Given the description of an element on the screen output the (x, y) to click on. 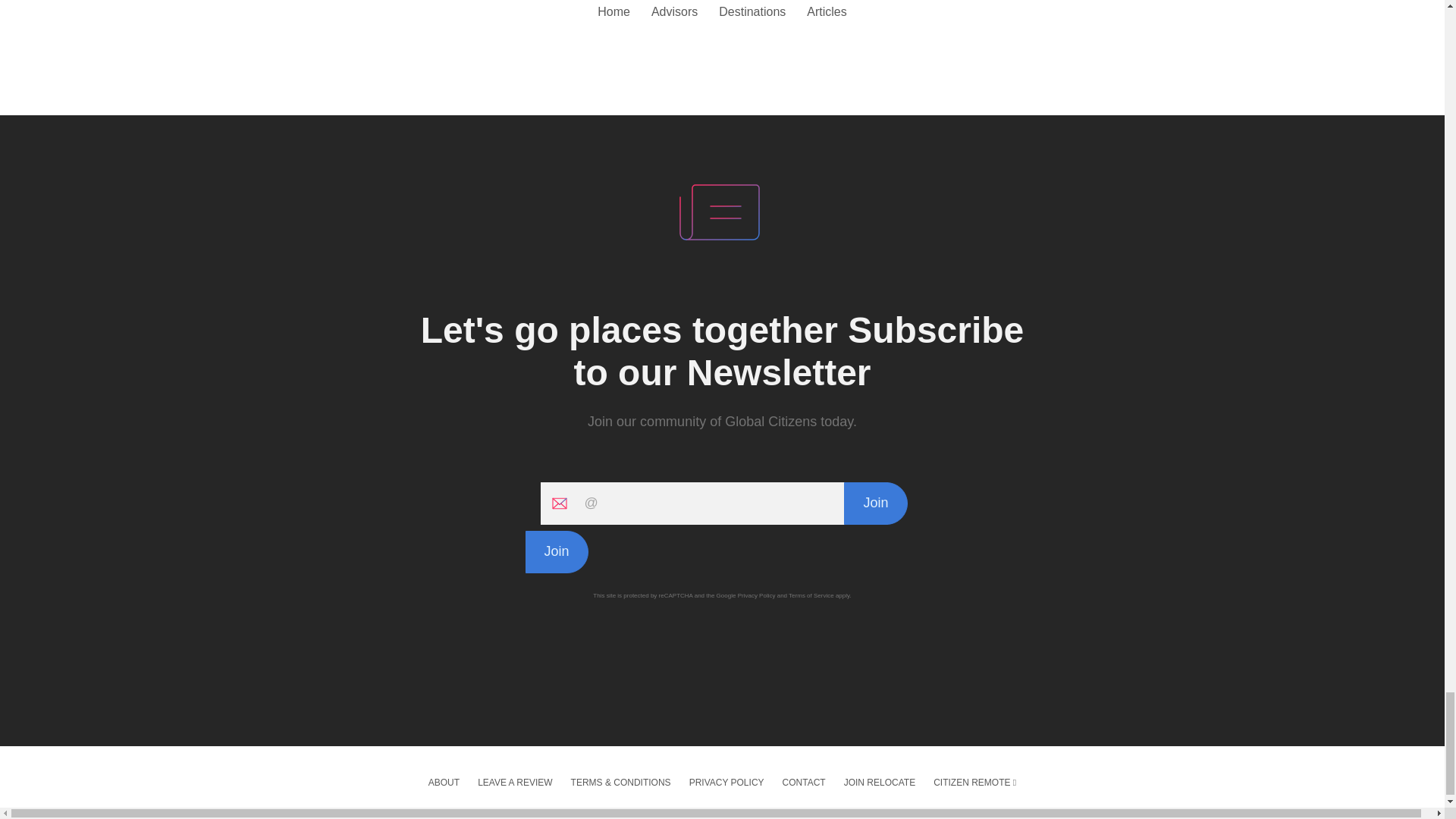
Join (875, 503)
ABOUT (444, 782)
CONTACT (804, 782)
JOIN RELOCATE (879, 782)
PRIVACY POLICY (726, 782)
Terms of Service (811, 594)
Privacy Policy (757, 594)
LEAVE A REVIEW (514, 782)
Join (556, 551)
